Given the description of an element on the screen output the (x, y) to click on. 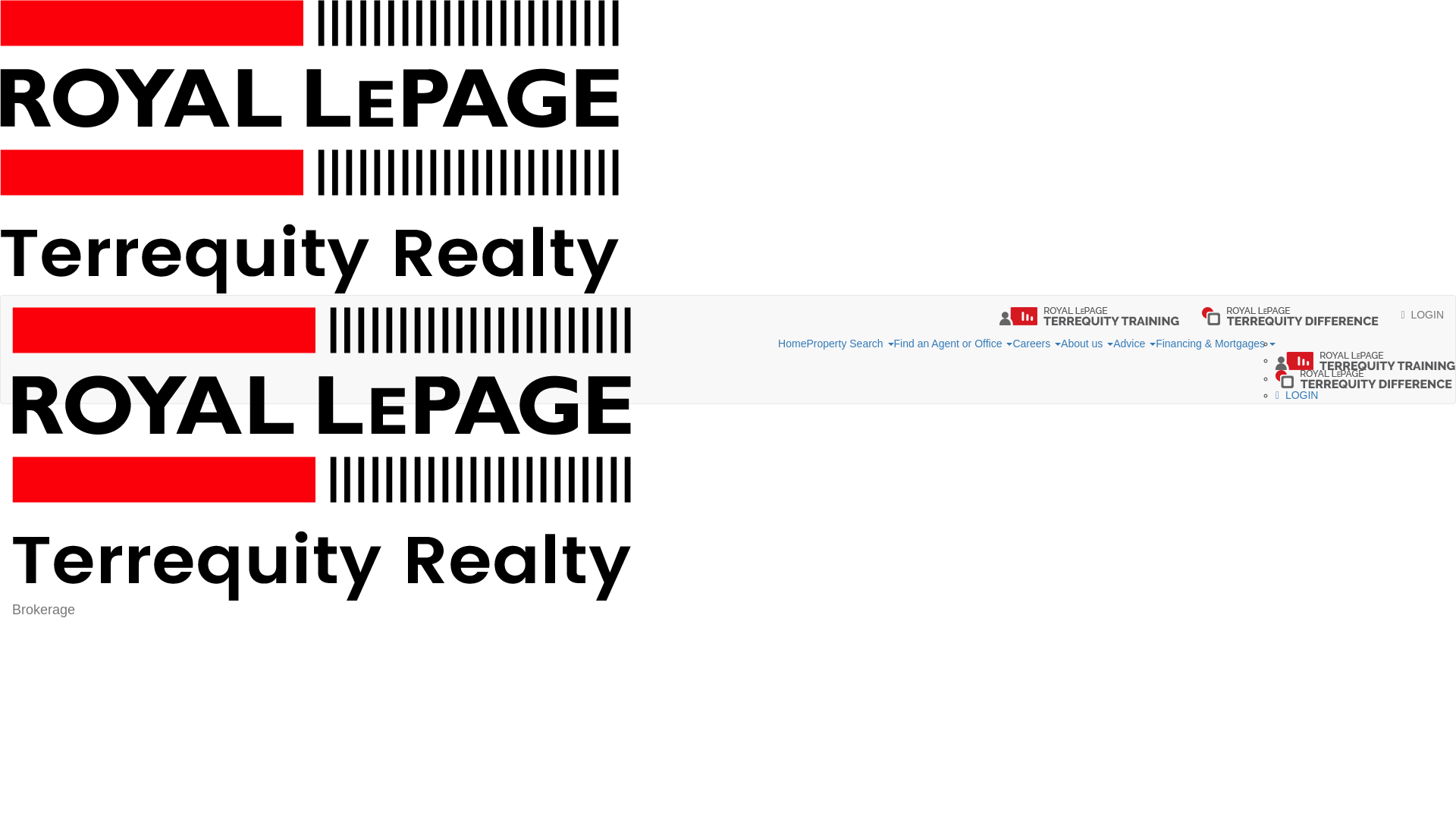
Find an Agent or Office (953, 344)
Property Search (849, 344)
Home (791, 344)
Advice (1134, 344)
About us (1087, 344)
Careers (1036, 344)
  LOGIN (1422, 314)
Brokerage (321, 314)
